Given the description of an element on the screen output the (x, y) to click on. 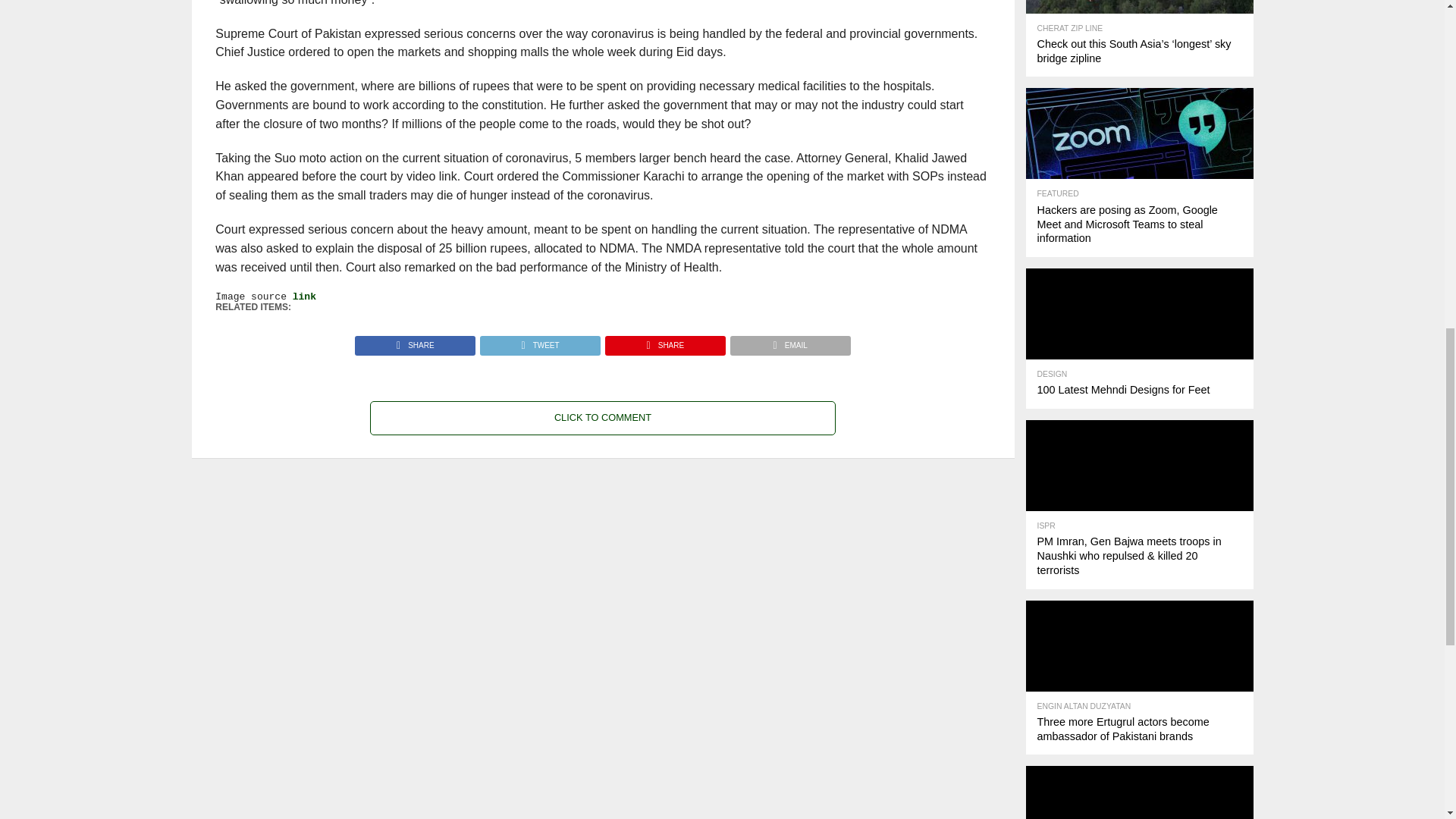
Share on Facebook (415, 341)
Tweet This Post (539, 341)
Pin This Post (664, 341)
